Given the description of an element on the screen output the (x, y) to click on. 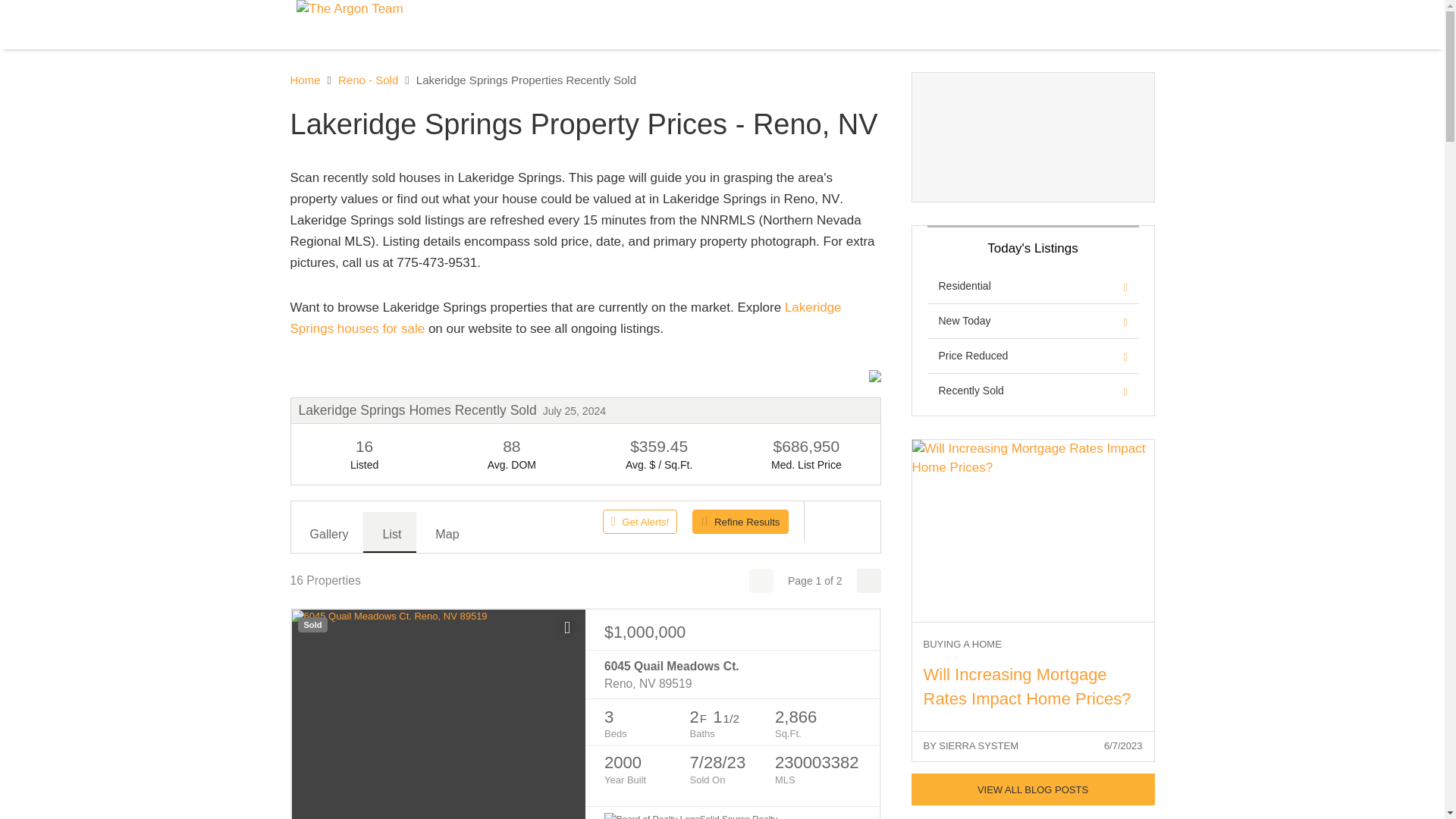
6045 Quail Meadows Ct. Reno,  NV 89519 (732, 675)
